Given the description of an element on the screen output the (x, y) to click on. 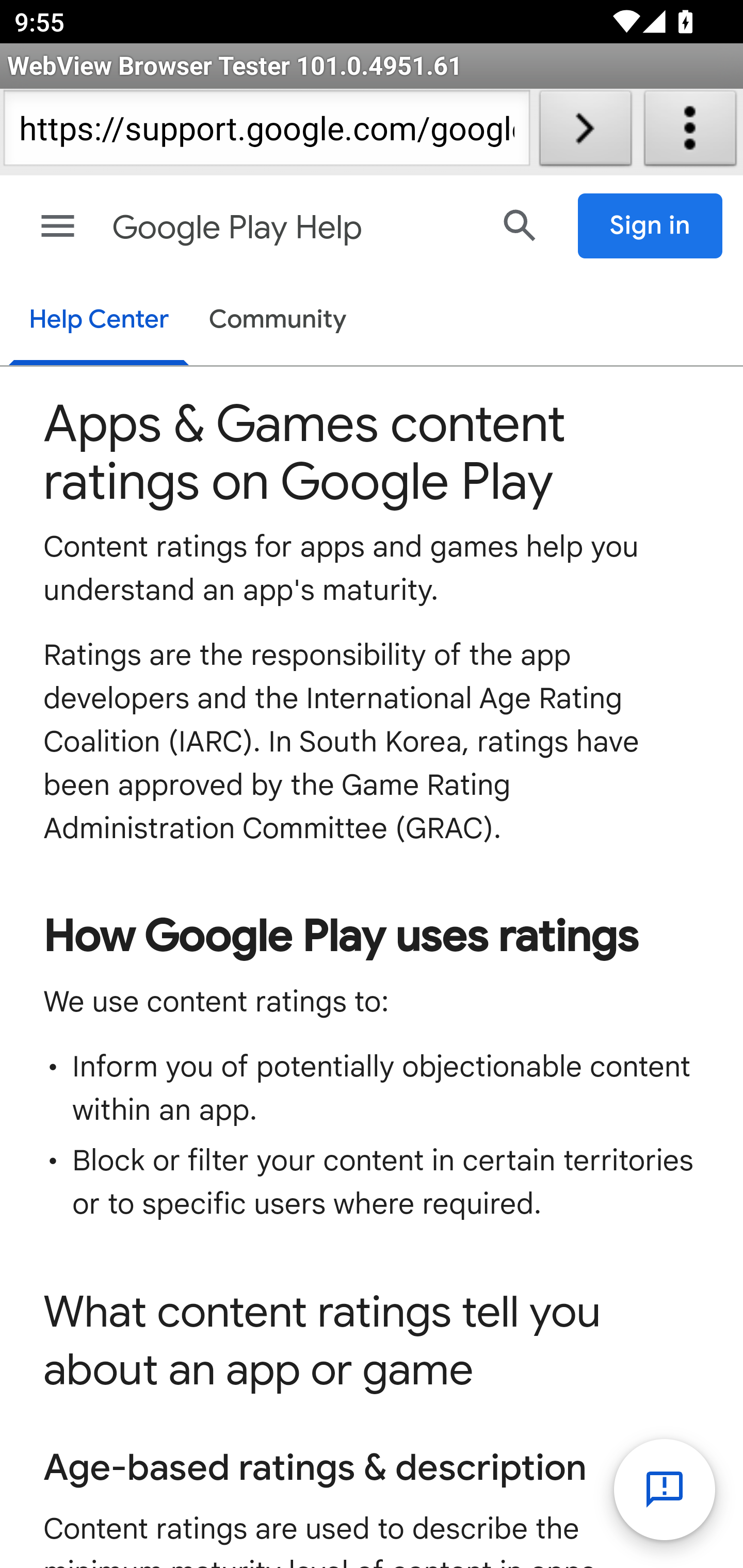
Load URL (585, 132)
About WebView (690, 132)
Main menu (58, 226)
Google Play Help (292, 227)
Search Help Center (519, 225)
Sign in (650, 226)
Help Center (98, 320)
Community (277, 320)
